Given the description of an element on the screen output the (x, y) to click on. 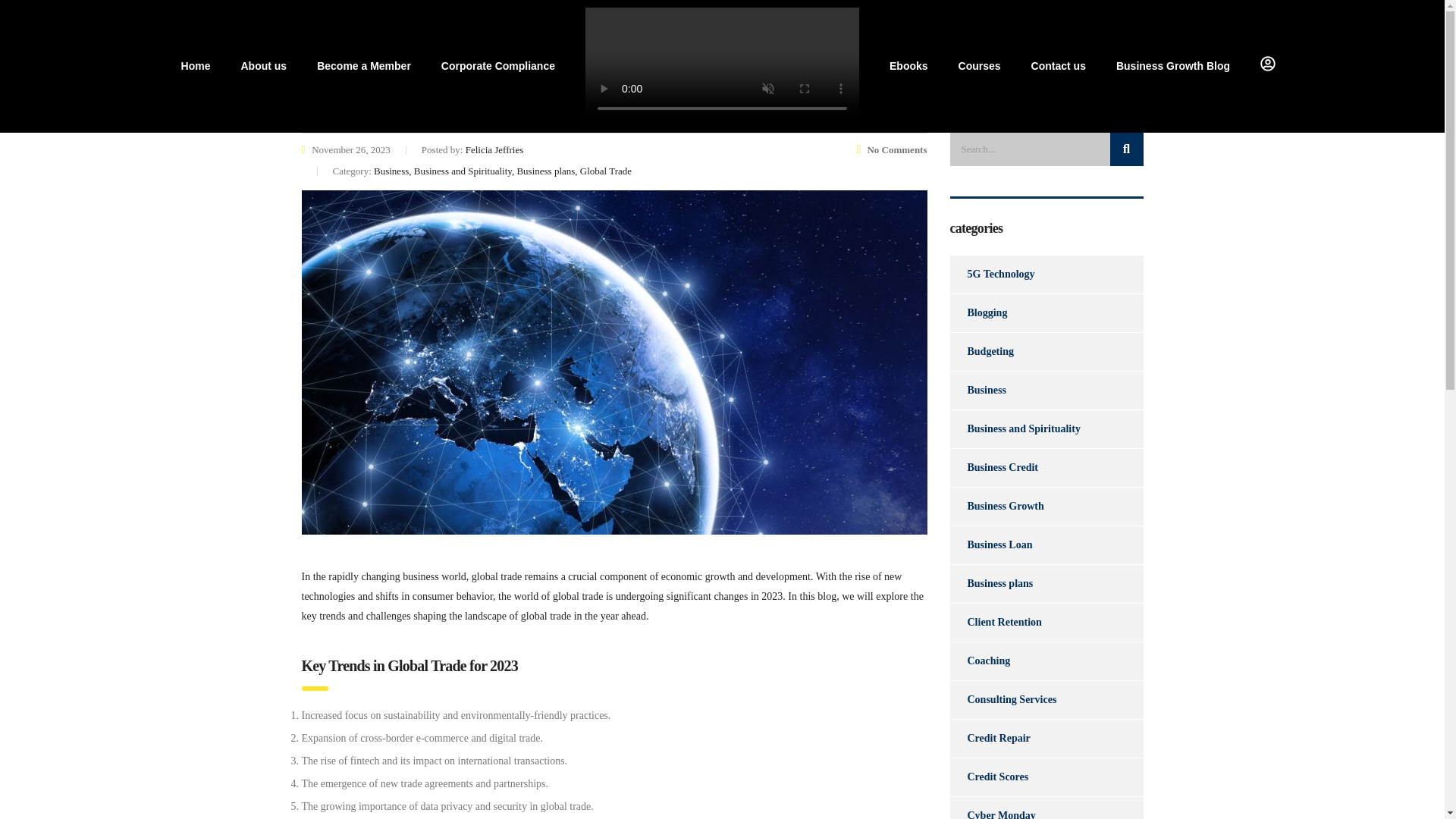
About us (263, 65)
Courses (979, 65)
Contact us (1058, 65)
Ebooks (909, 65)
Become a Member (363, 65)
Business Growth Blog (1172, 65)
Home (195, 65)
Corporate Compliance (498, 65)
